Given the description of an element on the screen output the (x, y) to click on. 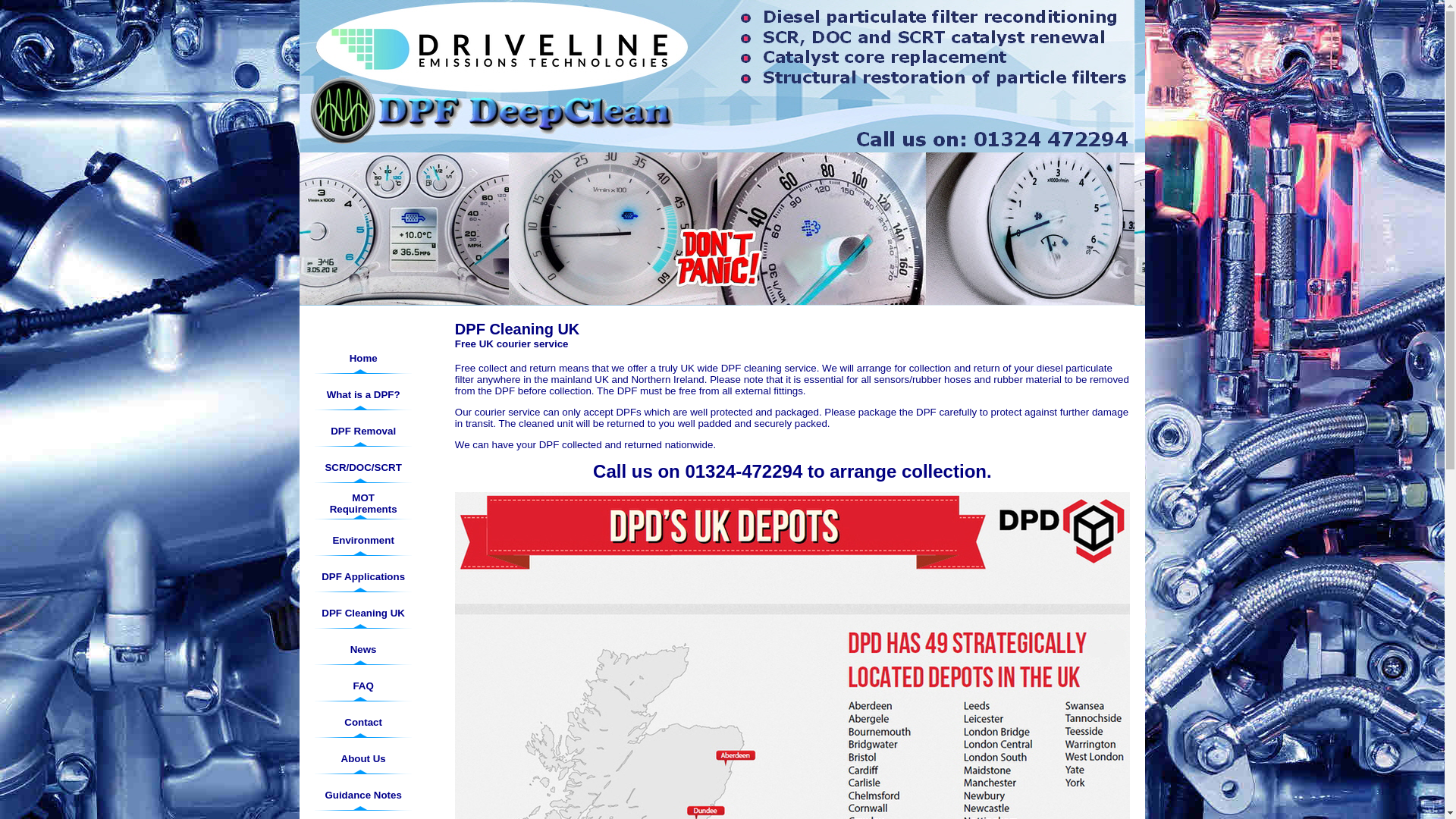
DPF Removal (363, 430)
Contact (363, 722)
Guidance Notes (363, 794)
DPF Cleaning UK (363, 613)
Home (363, 357)
FAQ (363, 685)
About Us (363, 758)
What is a DPF? (363, 394)
MOT Requirements (363, 503)
Environment (363, 540)
News (363, 649)
DPF Applications (363, 576)
